Given the description of an element on the screen output the (x, y) to click on. 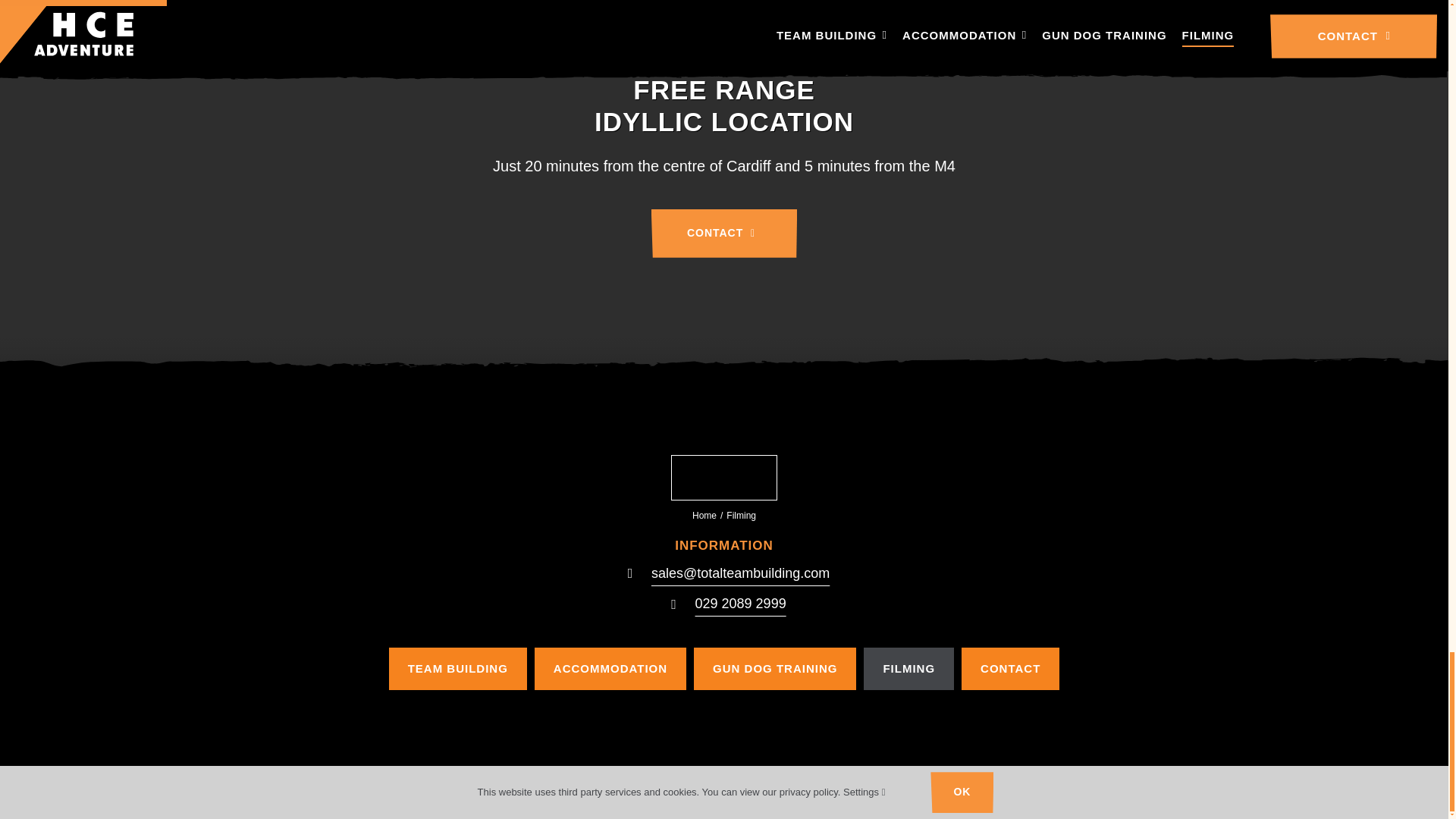
FILMING (908, 668)
GUN DOG TRAINING (775, 668)
CONTACT (723, 233)
TEAM BUILDING (457, 668)
ACCOMMODATION (609, 668)
Home (704, 515)
CONTACT (1009, 668)
029 2089 2999 (740, 603)
Contact us online (723, 233)
